Given the description of an element on the screen output the (x, y) to click on. 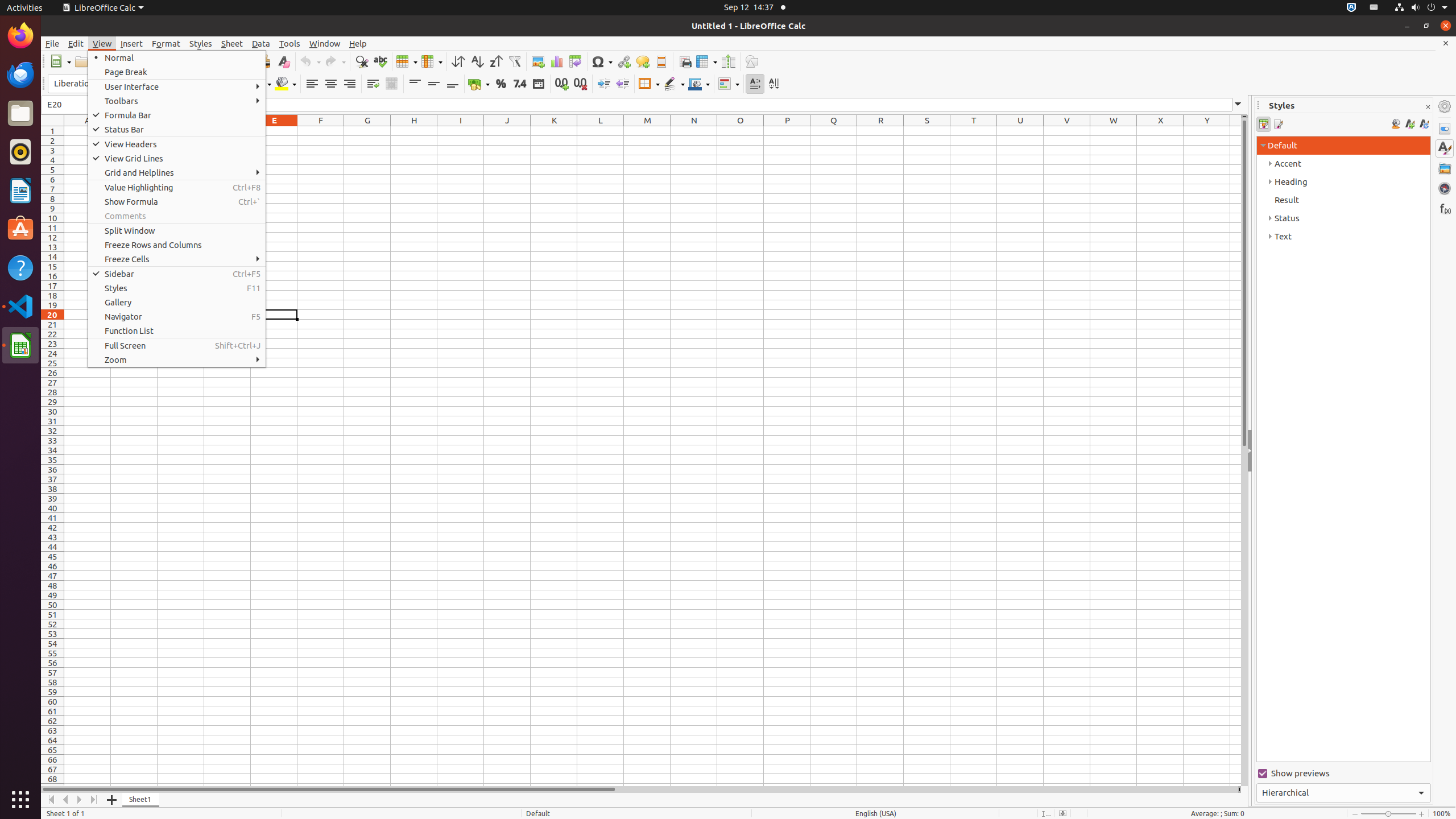
Vertical scroll bar Element type: scroll-bar (1244, 451)
Text direction from left to right Element type: toggle-button (754, 83)
Horizontal scroll bar Element type: scroll-bar (639, 789)
D1 Element type: table-cell (227, 130)
System Element type: menu (1420, 7)
